Given the description of an element on the screen output the (x, y) to click on. 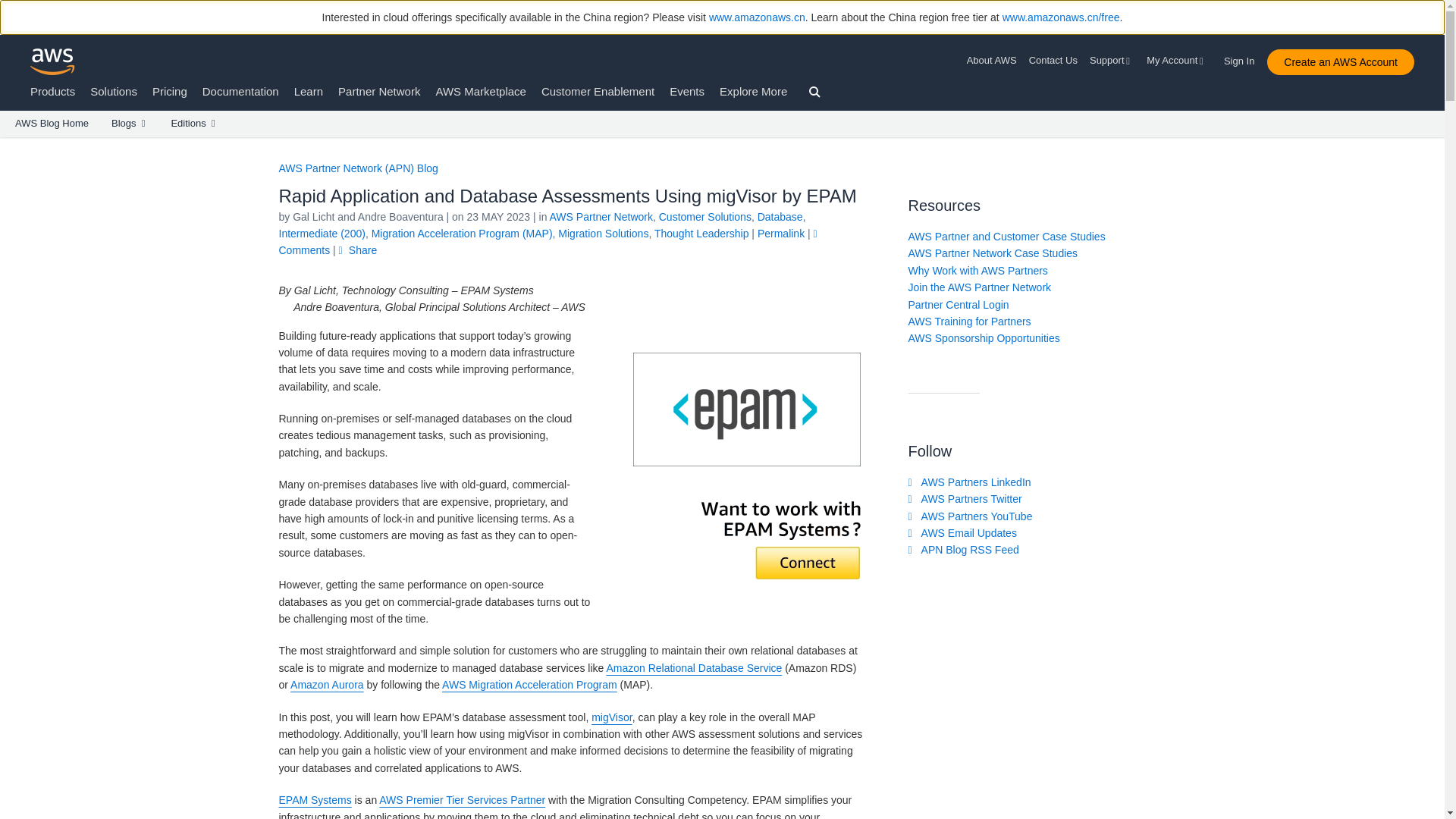
Customer Enablement (597, 91)
Events (686, 91)
View all posts in Thought Leadership (701, 233)
Products (52, 91)
View all posts in Database (780, 216)
Documentation (240, 91)
Contact Us (1053, 60)
Click here to return to Amazon Web Services homepage (52, 61)
Learn (308, 91)
Pricing (169, 91)
AWS Marketplace (480, 91)
About AWS (994, 60)
Support  (1111, 60)
Sign In (1243, 58)
Create an AWS Account (1339, 62)
